Given the description of an element on the screen output the (x, y) to click on. 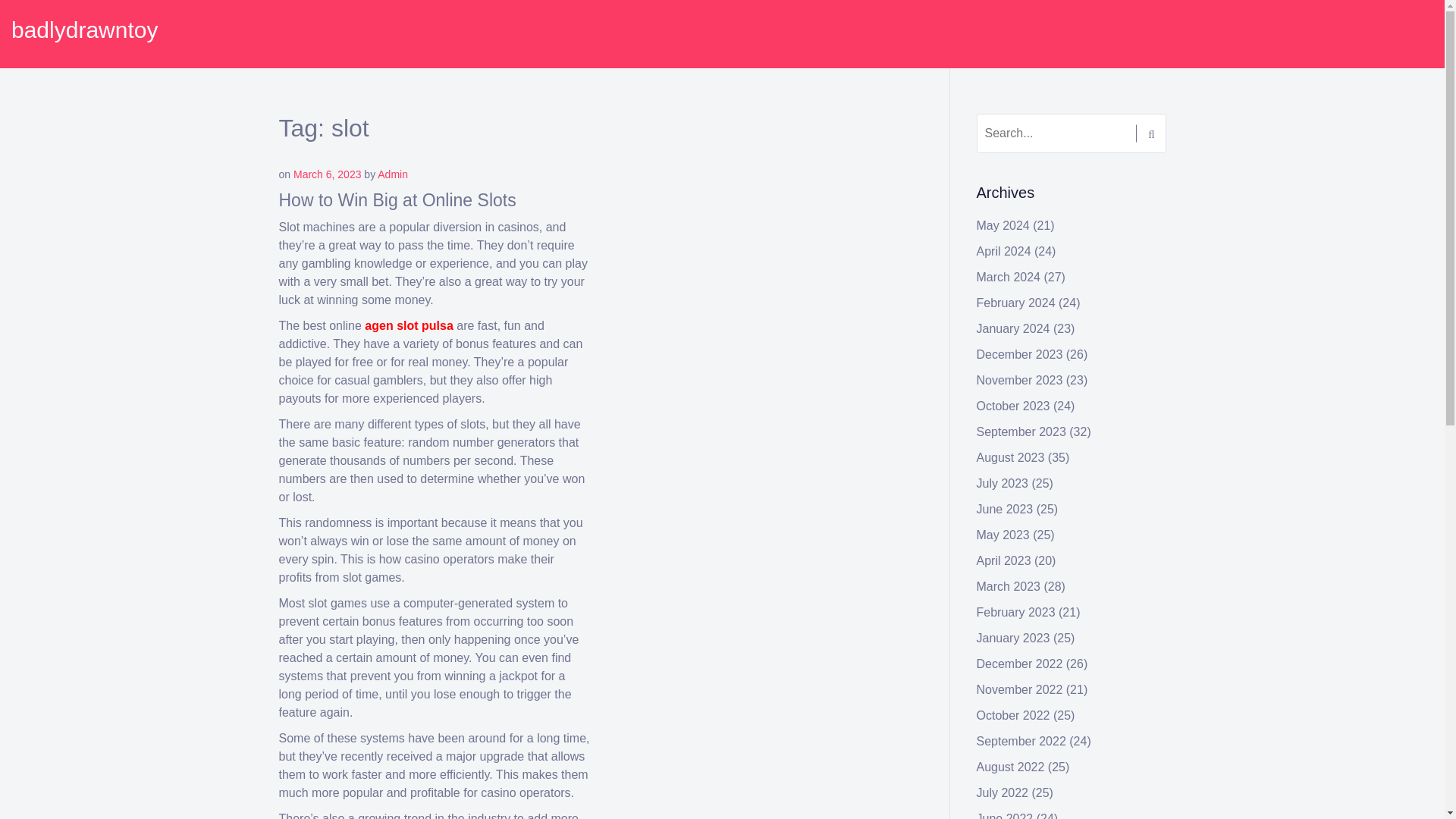
April 2023 (1003, 560)
June 2022 (1004, 815)
October 2022 (1012, 715)
February 2024 (1015, 302)
November 2022 (1019, 689)
agen slot pulsa (408, 325)
August 2023 (1010, 457)
September 2022 (1020, 740)
March 2023 (1008, 585)
How to Win Big at Online Slots (397, 199)
October 2023 (1012, 405)
May 2024 (1002, 225)
January 2023 (1012, 637)
July 2022 (1002, 792)
January 2024 (1012, 328)
